Given the description of an element on the screen output the (x, y) to click on. 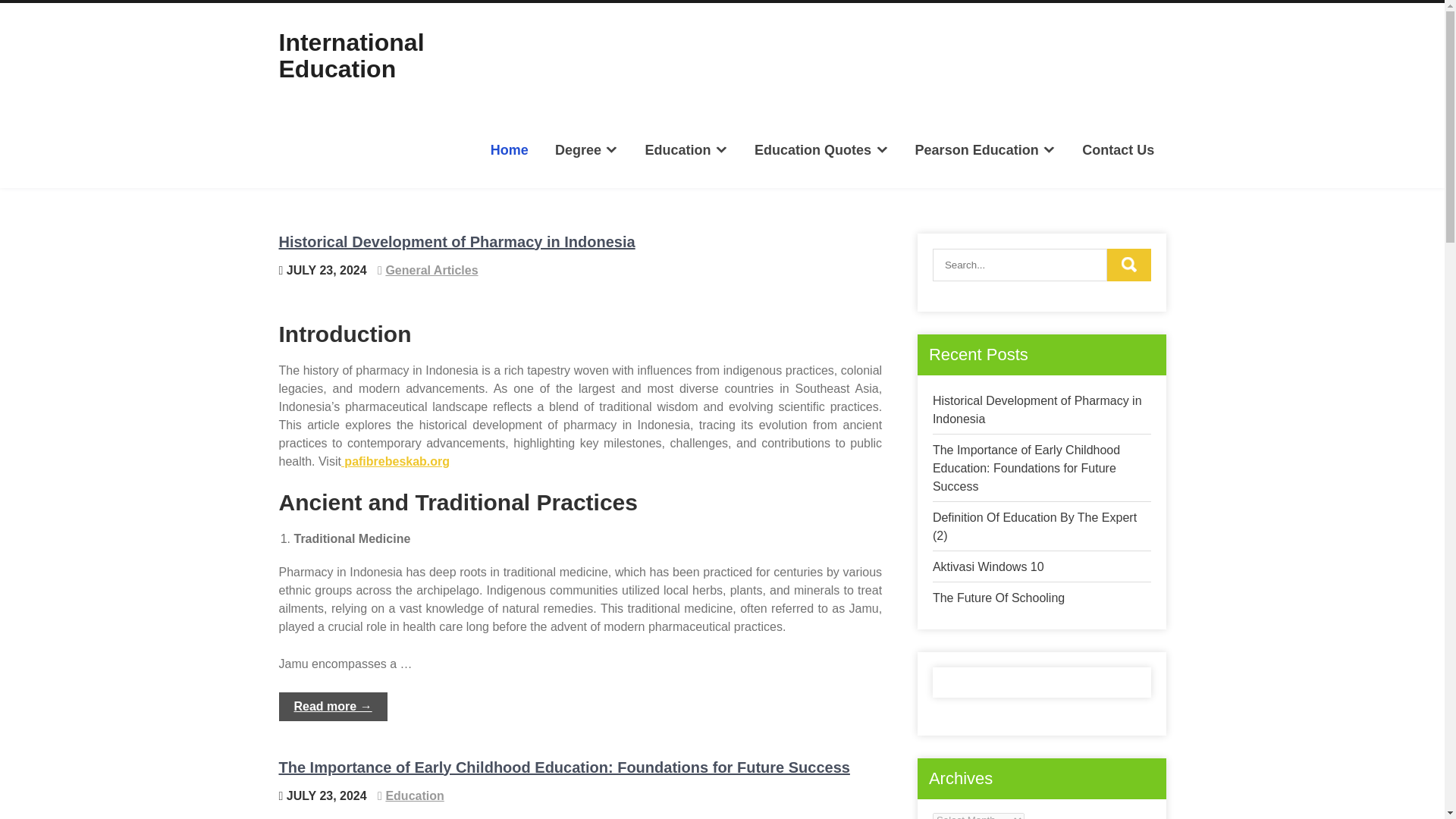
Degree (586, 149)
pafibrebeskab.org (394, 461)
Pearson Education (984, 149)
Search (1128, 264)
Education (414, 795)
Education Quotes (820, 149)
General Articles (431, 269)
Contact Us (1118, 149)
Search (1128, 264)
International Education (352, 55)
Home (509, 149)
Education (686, 149)
Historical Development of Pharmacy in Indonesia (456, 241)
